Given the description of an element on the screen output the (x, y) to click on. 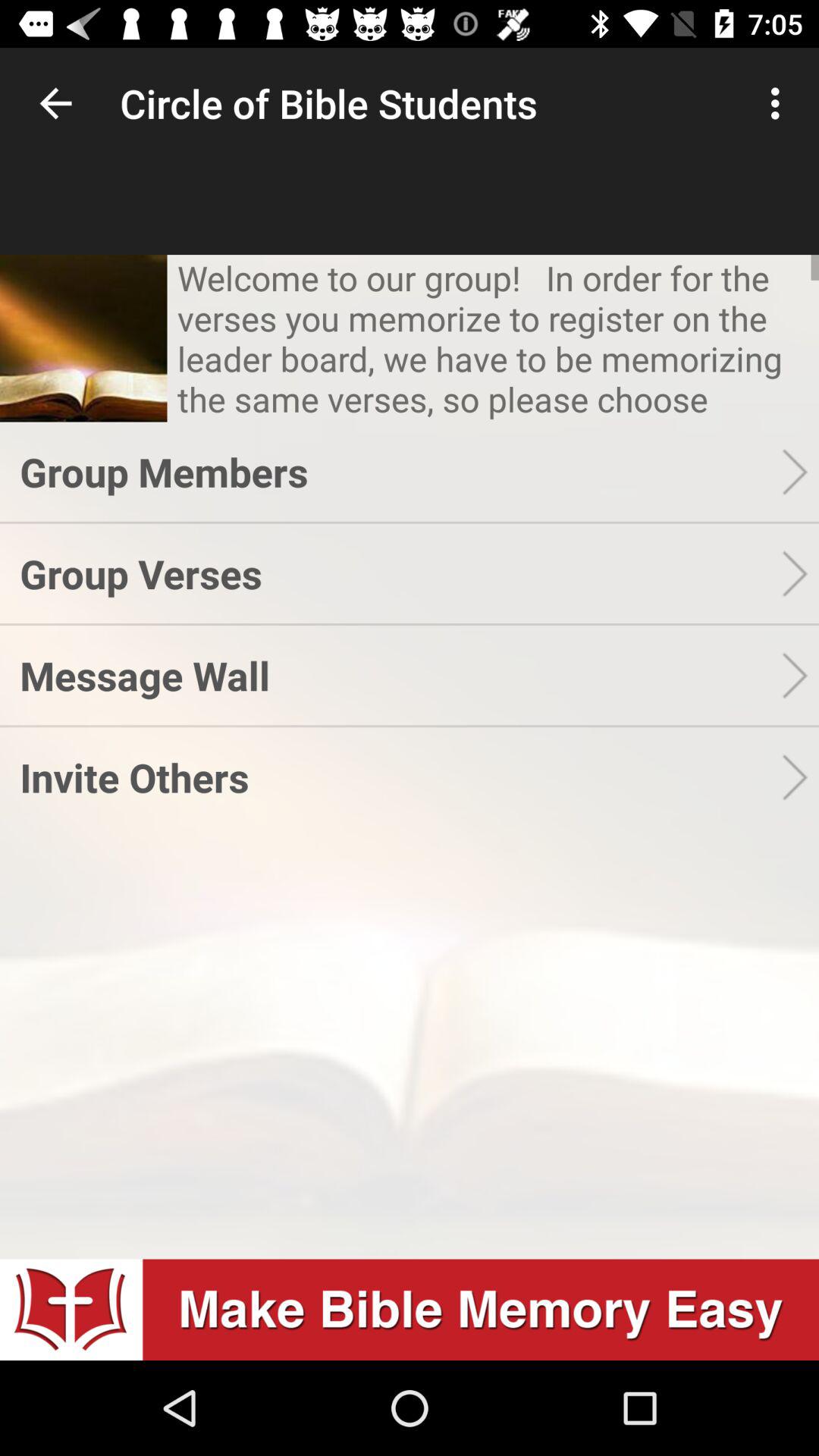
turn off app to the right of the circle of bible item (779, 103)
